Given the description of an element on the screen output the (x, y) to click on. 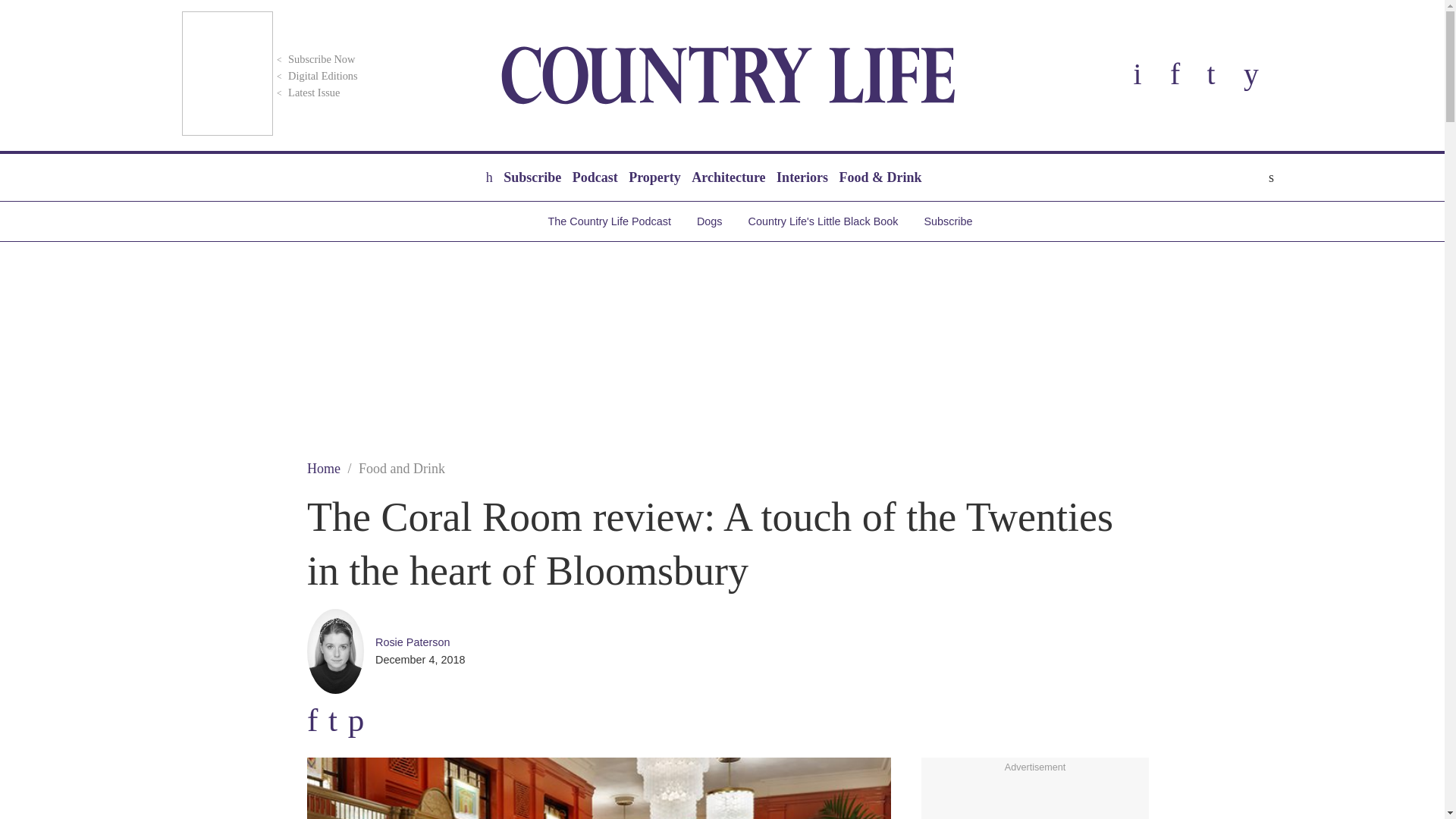
Interiors (802, 176)
Property (654, 176)
Subscribe (531, 176)
Latest Issue (306, 92)
Architecture (727, 176)
Country Life (727, 74)
Digital Editions (315, 75)
Podcast (595, 176)
Subscribe Now (314, 59)
